Given the description of an element on the screen output the (x, y) to click on. 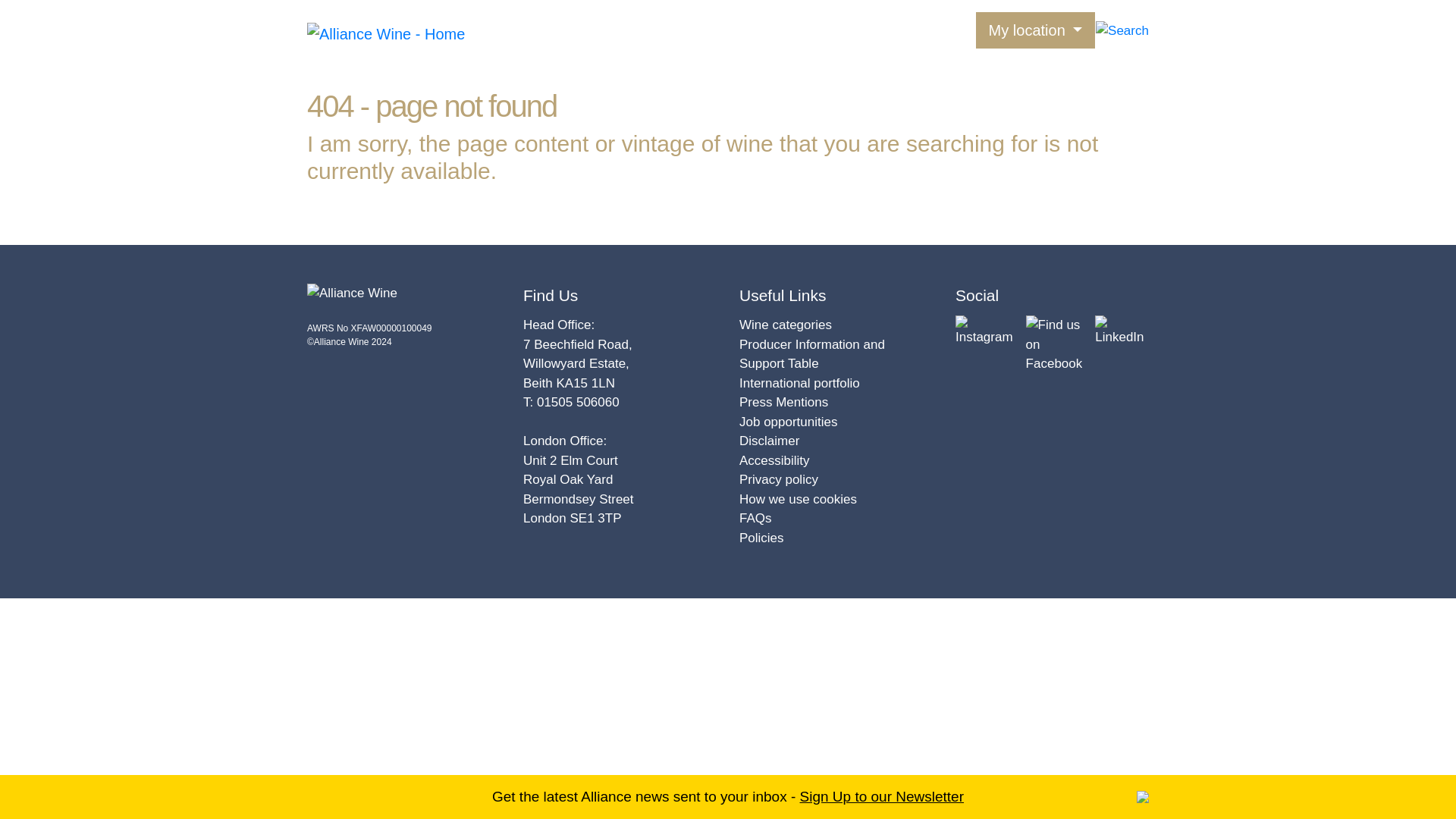
Get in touch (935, 28)
Accessibility (774, 460)
01505 506060 (578, 401)
Producer Information and Support Table (812, 353)
Job opportunities (788, 421)
My location (1035, 30)
About us (713, 28)
Alliance Wine Instagram (984, 329)
Our producers (637, 28)
Press Mentions (783, 401)
